Given the description of an element on the screen output the (x, y) to click on. 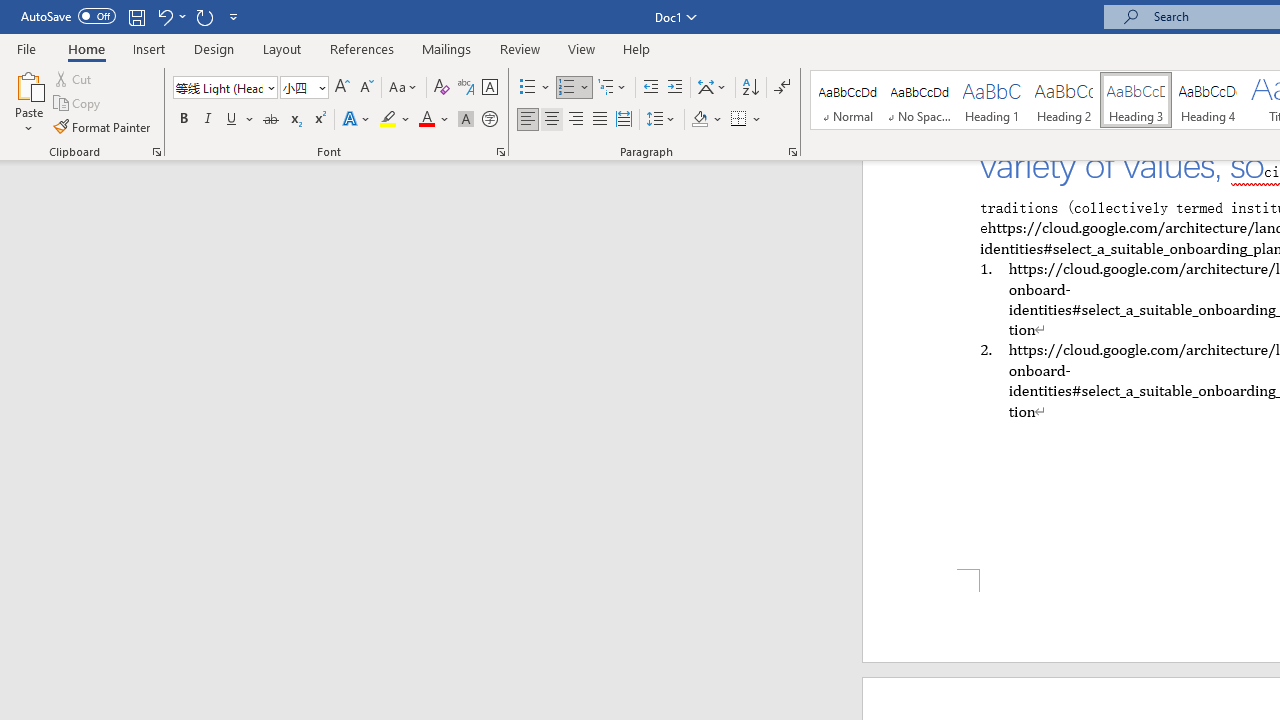
Heading 4 (1208, 100)
Font Color Blue-Gray, Text 2 (426, 119)
